Given the description of an element on the screen output the (x, y) to click on. 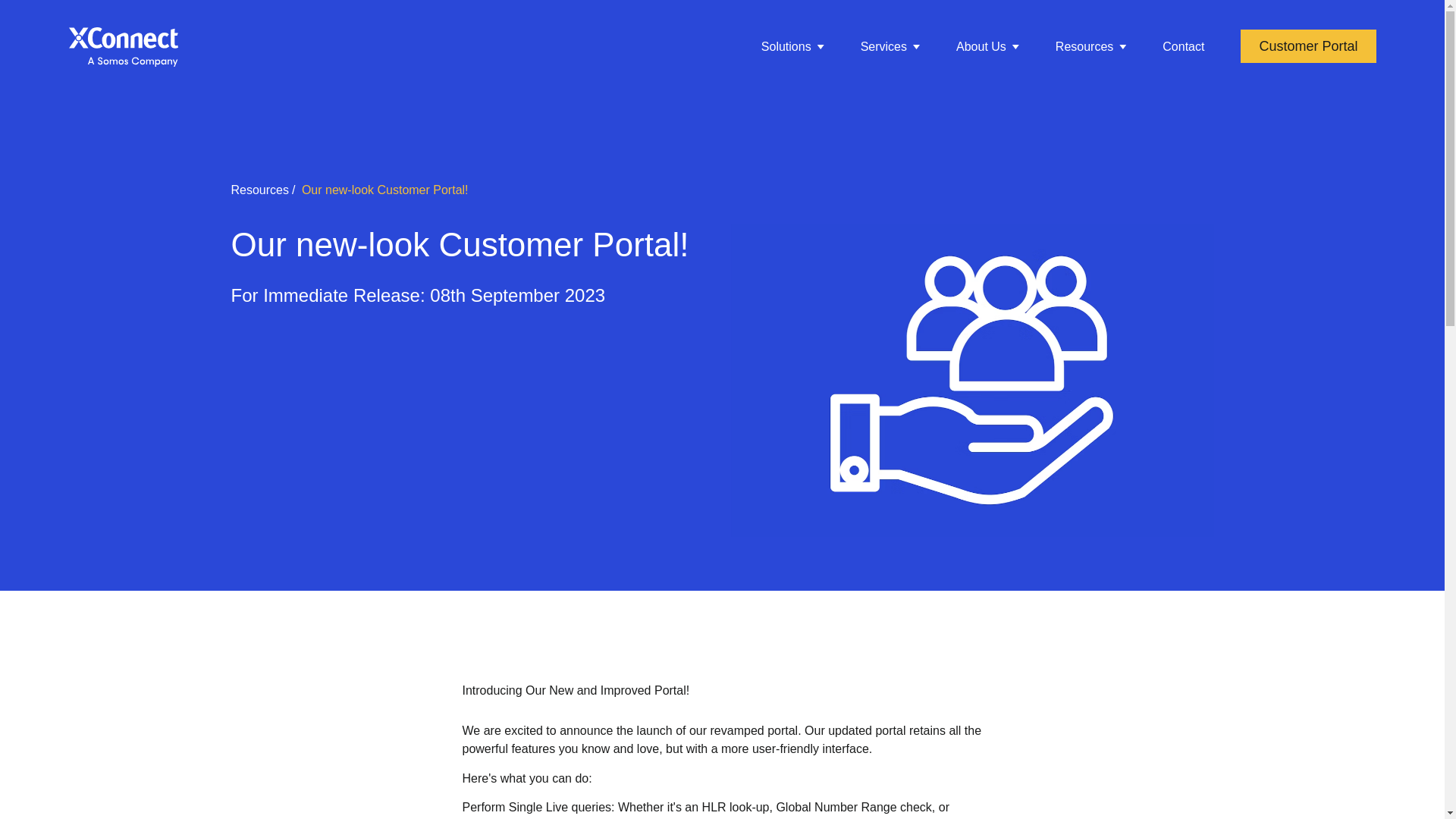
Solutions (792, 47)
Services (890, 47)
Resources (1090, 47)
Company name - homepage (122, 46)
Resources (259, 189)
About Us (986, 47)
Customer Portal (1307, 46)
Contact (1183, 46)
